Given the description of an element on the screen output the (x, y) to click on. 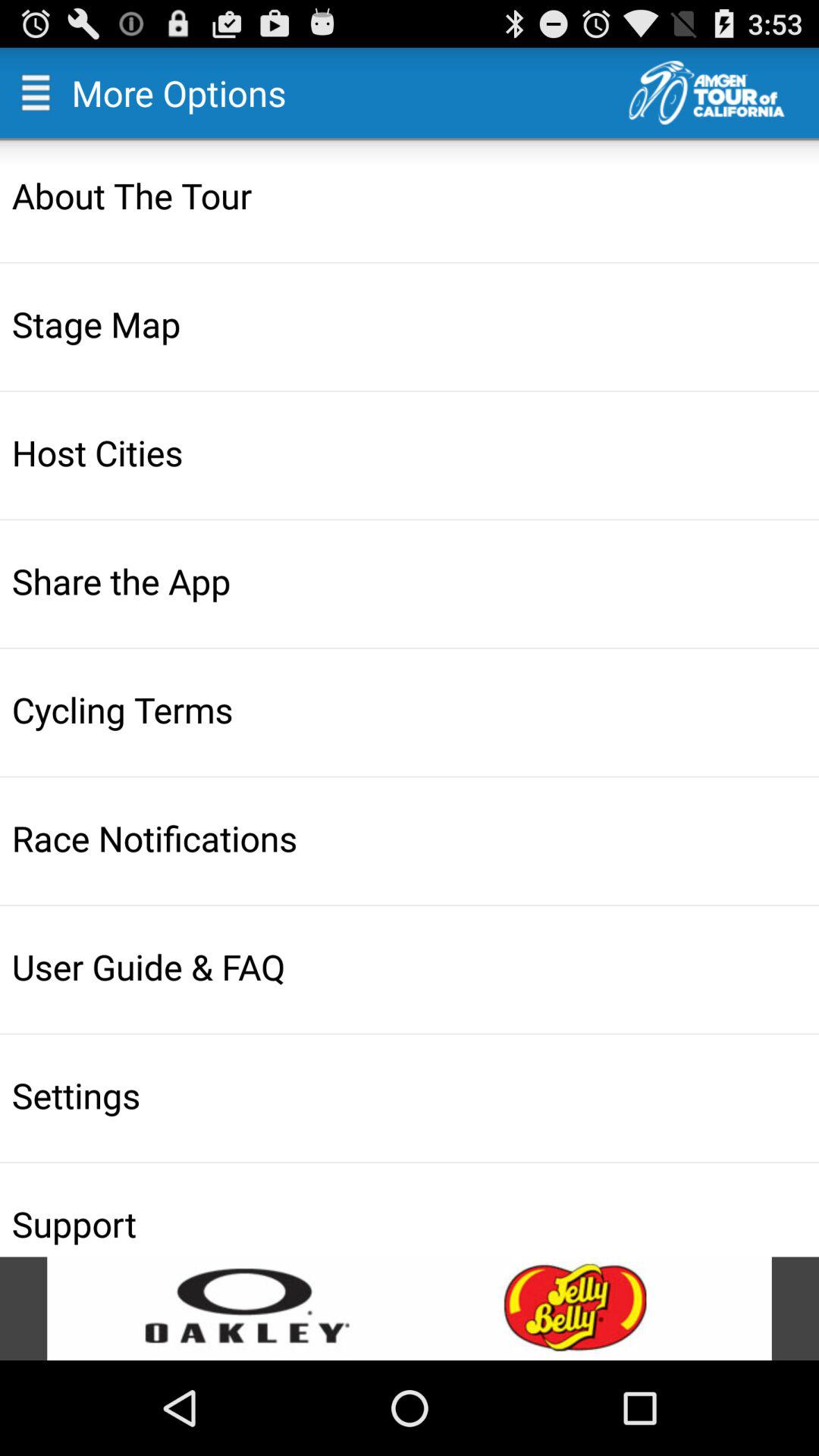
turn off the stage map (411, 323)
